Given the description of an element on the screen output the (x, y) to click on. 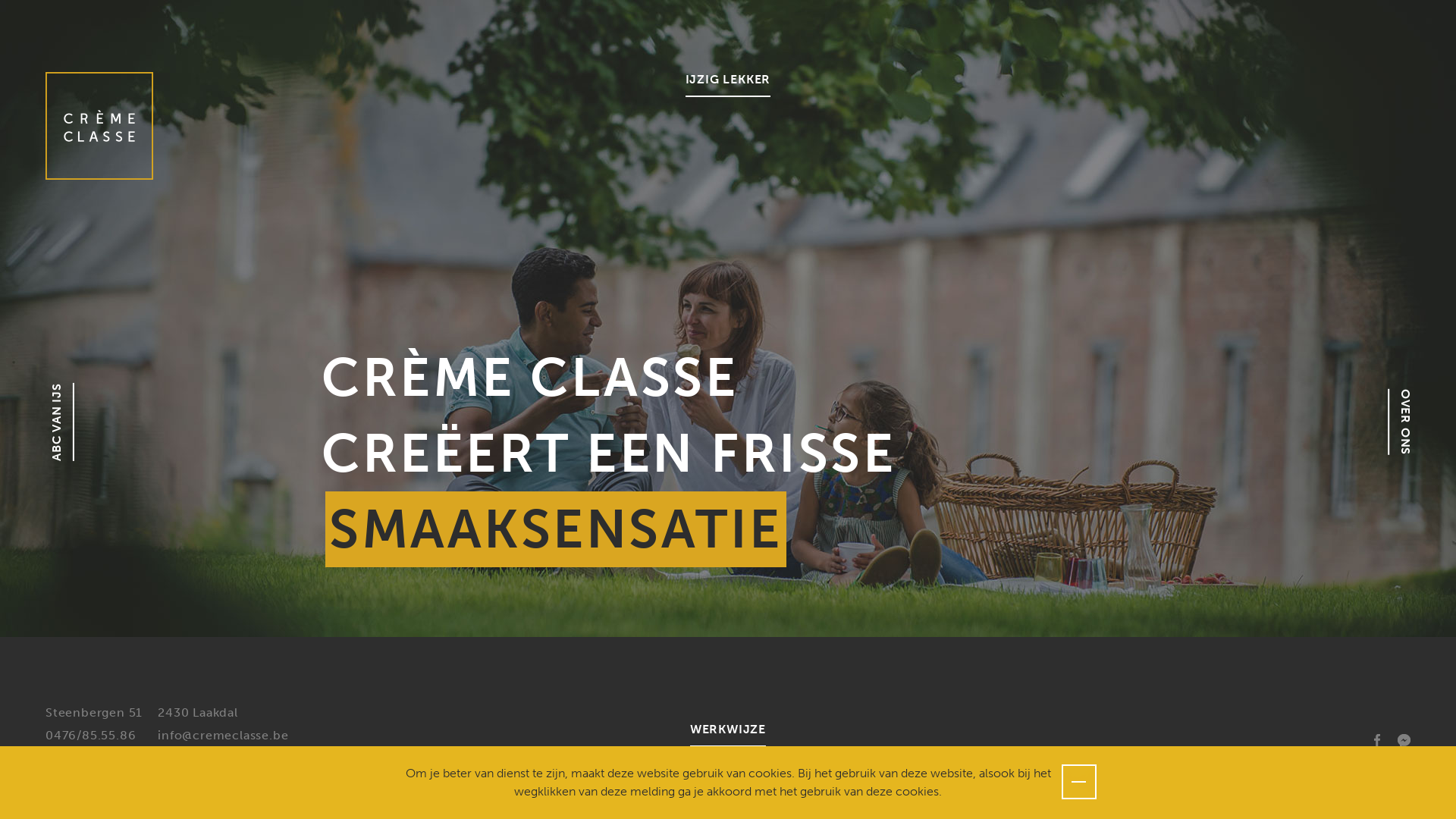
OVER ONS Element type: text (1420, 401)
ABC VAN IJS Element type: text (88, 394)
0476/85.55.86 Element type: text (90, 735)
IJZIG LEKKER Element type: text (728, 84)
WERKWIJZE Element type: text (727, 733)
info@cremeclasse.be Element type: text (222, 735)
